Given the description of an element on the screen output the (x, y) to click on. 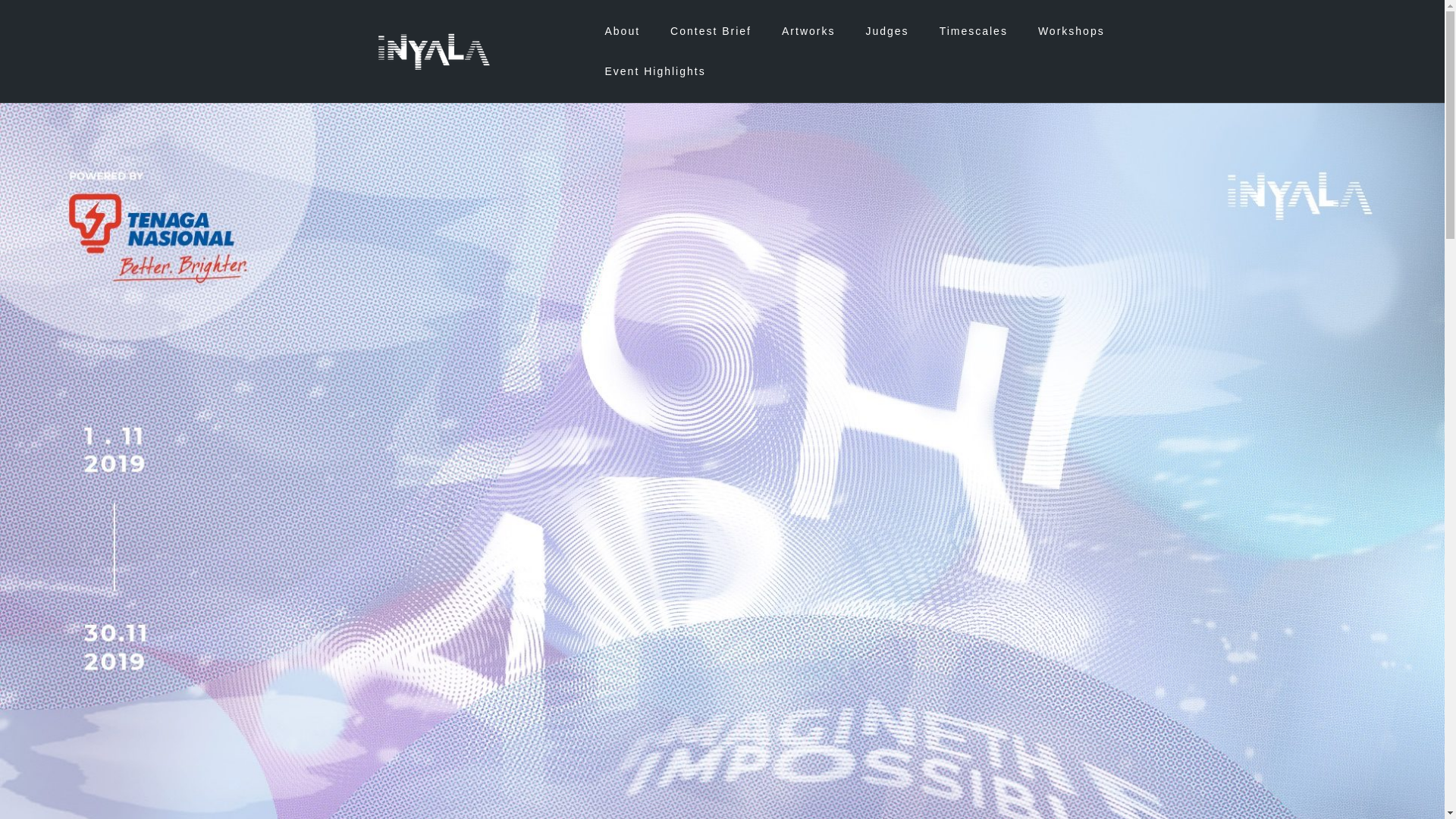
Artworks (807, 31)
Contest Brief (710, 31)
About (622, 31)
Event Highlights (654, 71)
Judges (886, 31)
Timescales (973, 31)
Workshops (1071, 31)
